Given the description of an element on the screen output the (x, y) to click on. 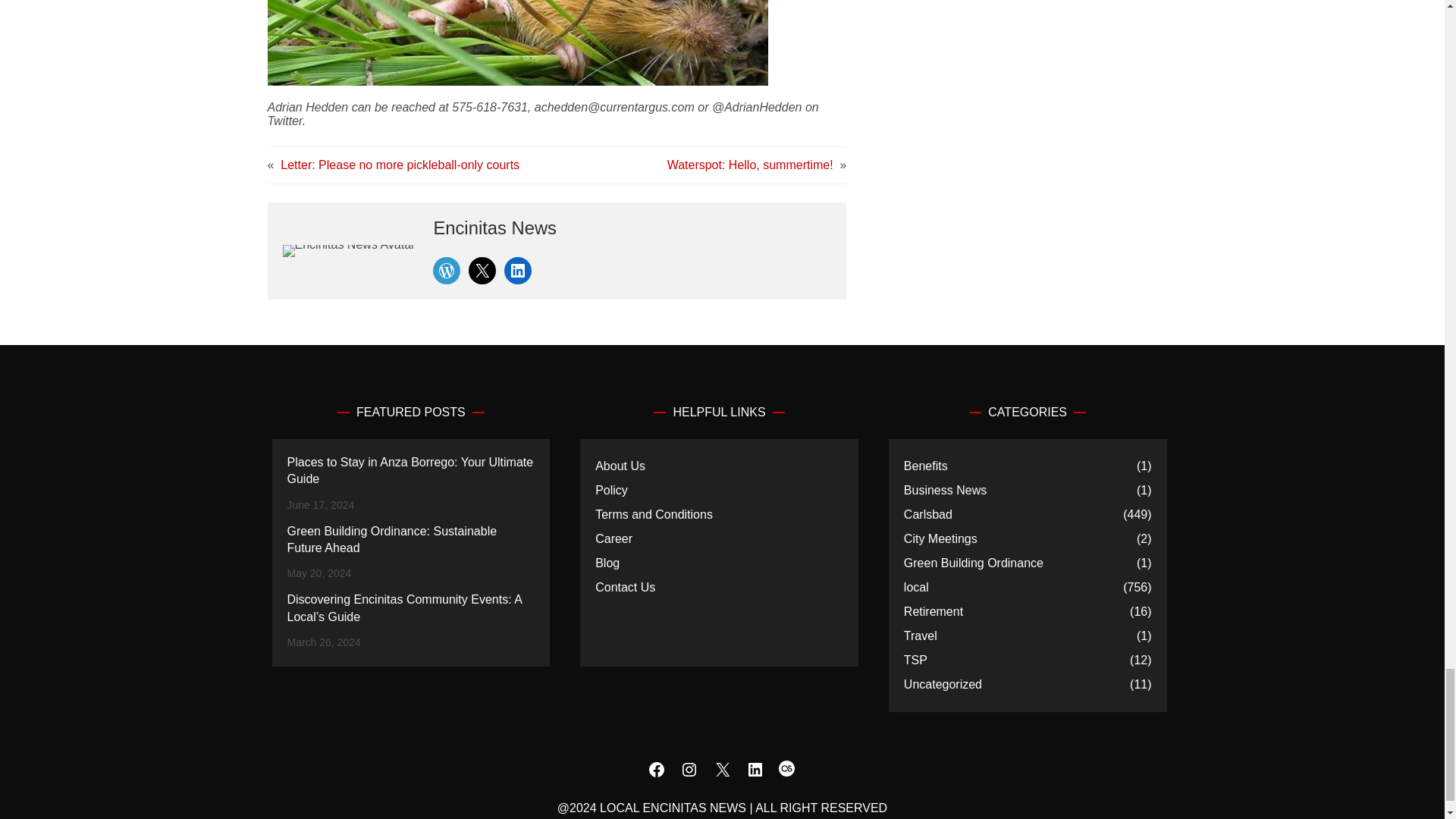
LinkedIn (517, 270)
Letter: Please no more pickleball-only courts (400, 164)
Waterspot: Hello, summertime! (749, 164)
WordPress (446, 270)
X (482, 270)
